Given the description of an element on the screen output the (x, y) to click on. 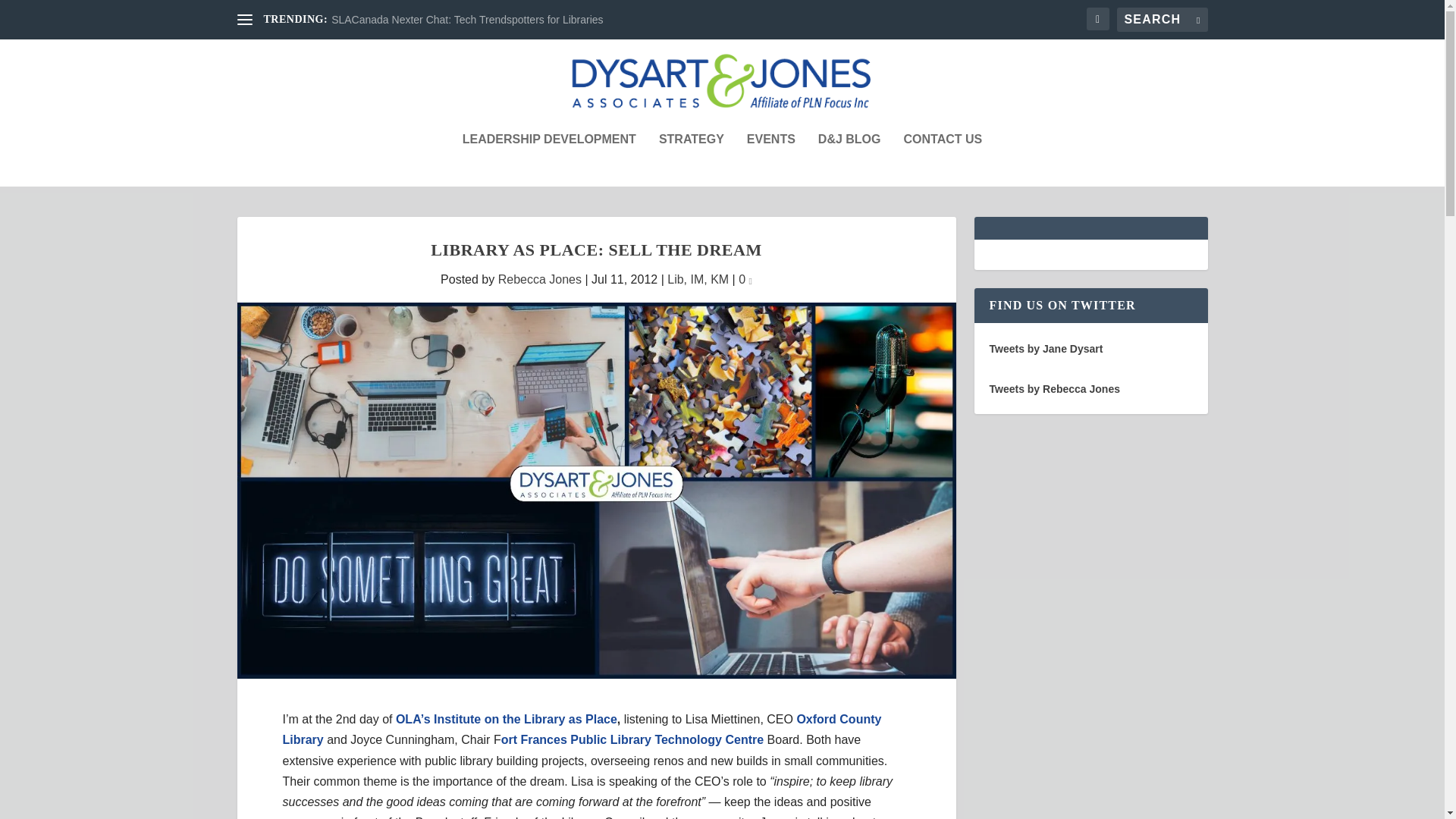
Posts by Rebecca Jones (538, 278)
Oxford County Library (581, 729)
comment count (750, 280)
ort Frances Public Library Technology Centre (631, 739)
STRATEGY (691, 159)
Rebecca Jones (538, 278)
EVENTS (770, 159)
0 (745, 278)
Search for: (1161, 19)
SLACanada Nexter Chat: Tech Trendspotters for Libraries (466, 19)
CONTACT US (943, 159)
Lib, IM, KM (697, 278)
LEADERSHIP DEVELOPMENT (549, 159)
